Given the description of an element on the screen output the (x, y) to click on. 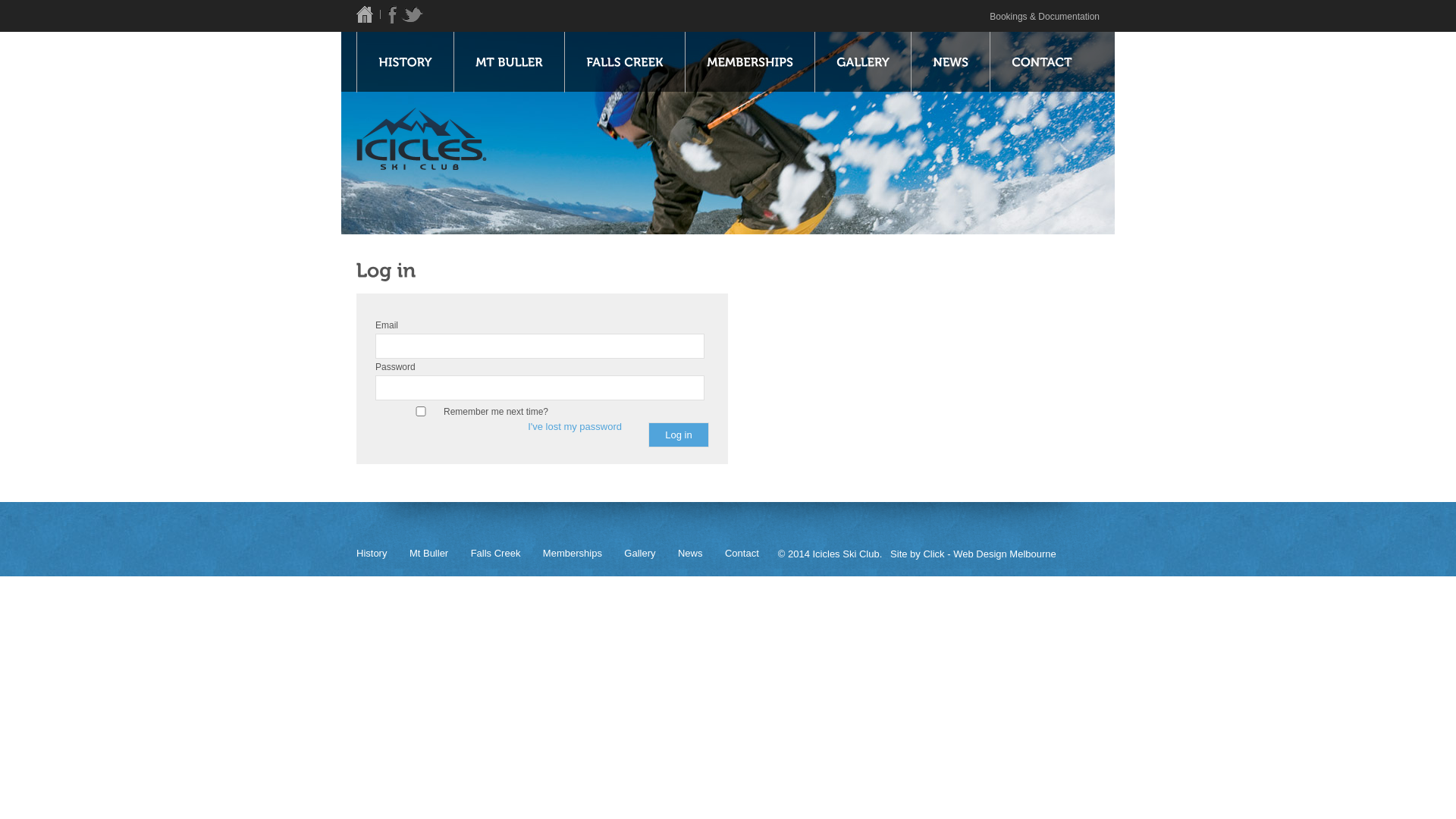
Web Design Melbourne Element type: text (1004, 553)
Site by Click Element type: text (917, 553)
Log in Element type: hover (678, 434)
Bookings & Documentation Element type: text (1044, 16)
Go to the "Memberships" page Element type: hover (749, 61)
Twitter Element type: text (412, 14)
Contact Element type: text (751, 552)
Go to the "Contact" page Element type: hover (1041, 61)
History Element type: text (380, 552)
Go to the "History" page Element type: hover (404, 61)
Go to the "Falls Creek" page Element type: hover (624, 61)
Icicles Ski Club Element type: text (372, 14)
Go to the "Gallery" page Element type: hover (862, 61)
Gallery Element type: text (649, 552)
Mt Buller Element type: text (438, 552)
Memberships Element type: text (581, 552)
Log in Element type: text (678, 434)
I've lost my password Element type: text (574, 426)
Falls Creek Element type: text (504, 552)
Facebook Element type: text (394, 14)
Go to the "Mt Buller" page Element type: hover (508, 61)
Go to the "News" page Element type: hover (949, 61)
News Element type: text (699, 552)
